Given the description of an element on the screen output the (x, y) to click on. 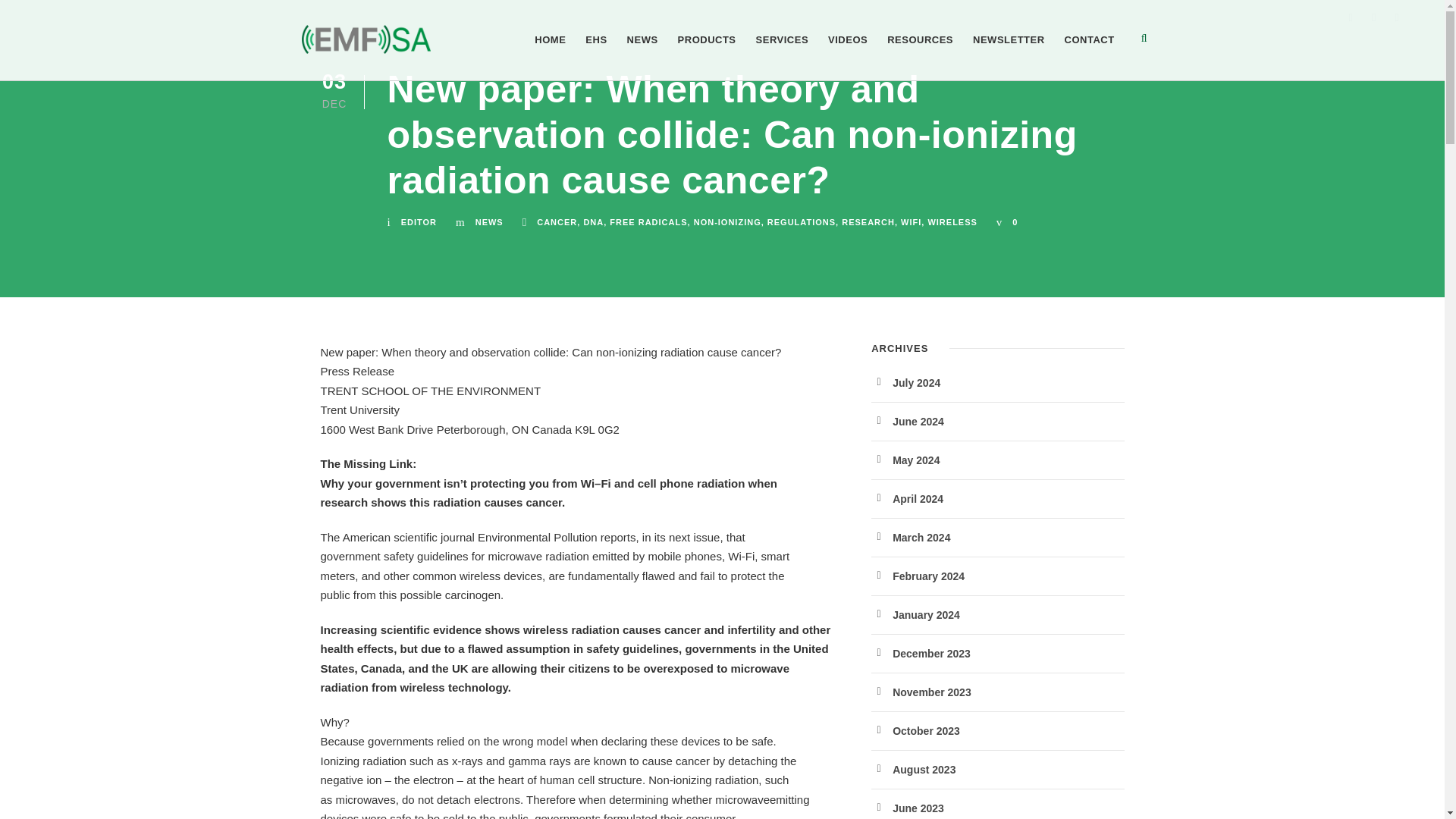
PRODUCTS (707, 55)
Posts by Editor (418, 221)
EMFSA logo (365, 39)
SERVICES (782, 55)
